Given the description of an element on the screen output the (x, y) to click on. 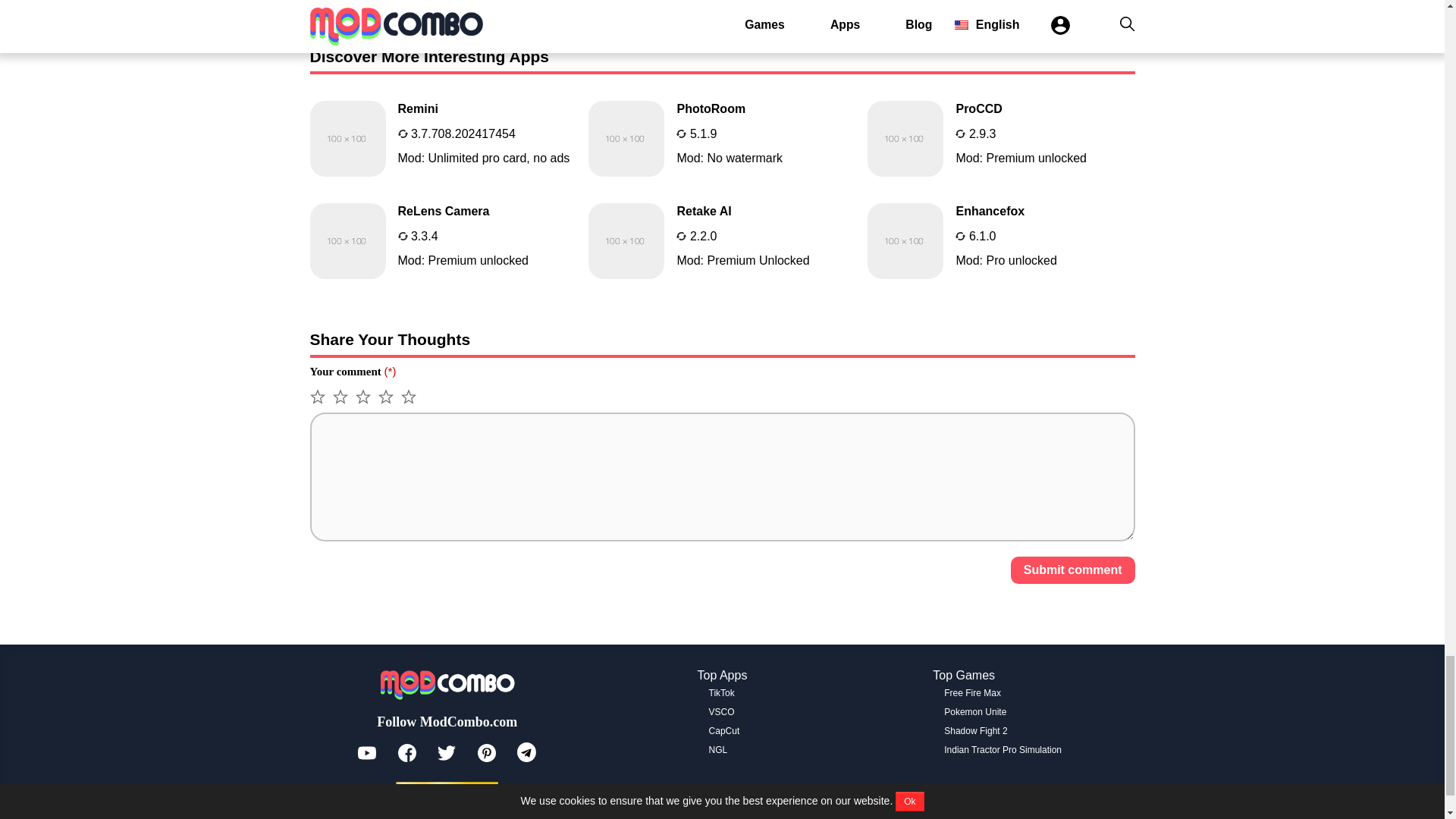
DMCA.com Protection Status (446, 792)
Retake AI (722, 241)
Remini (442, 138)
TikTok (722, 692)
Pokemon Unite (974, 711)
ReLens Camera (442, 241)
CapCut (442, 138)
Free Fire Max (442, 241)
NGL (1000, 138)
Submit comment (724, 730)
PhotoRoom (722, 241)
